Given the description of an element on the screen output the (x, y) to click on. 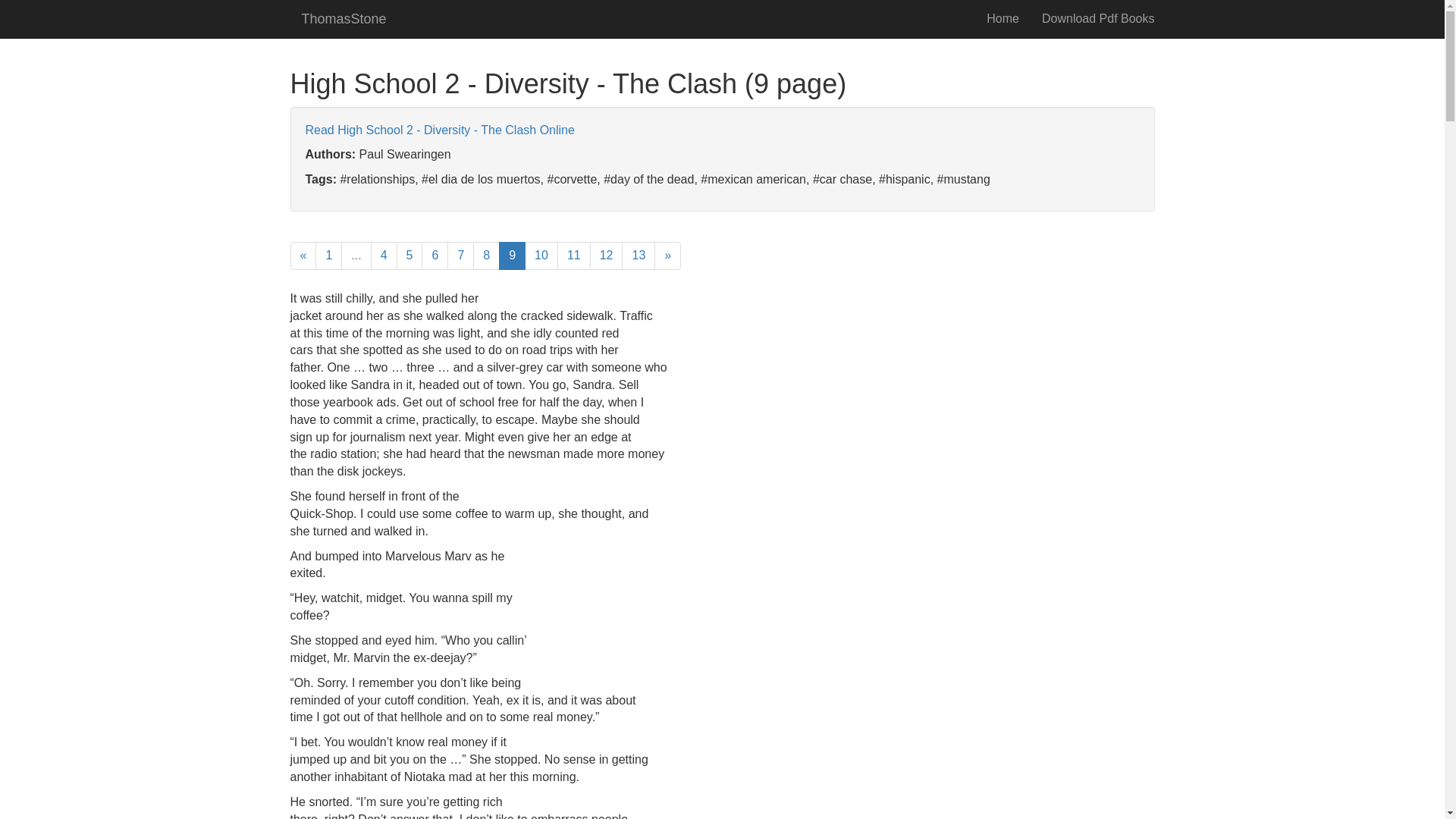
Home (1002, 18)
4 (384, 255)
9 (512, 255)
5 (409, 255)
11 (574, 255)
8 (486, 255)
Read High School 2 - Diversity - The Clash Online (438, 129)
ThomasStone (343, 18)
13 (638, 255)
7 (460, 255)
1 (328, 255)
Download Pdf Books (1098, 18)
6 (435, 255)
10 (540, 255)
12 (606, 255)
